Given the description of an element on the screen output the (x, y) to click on. 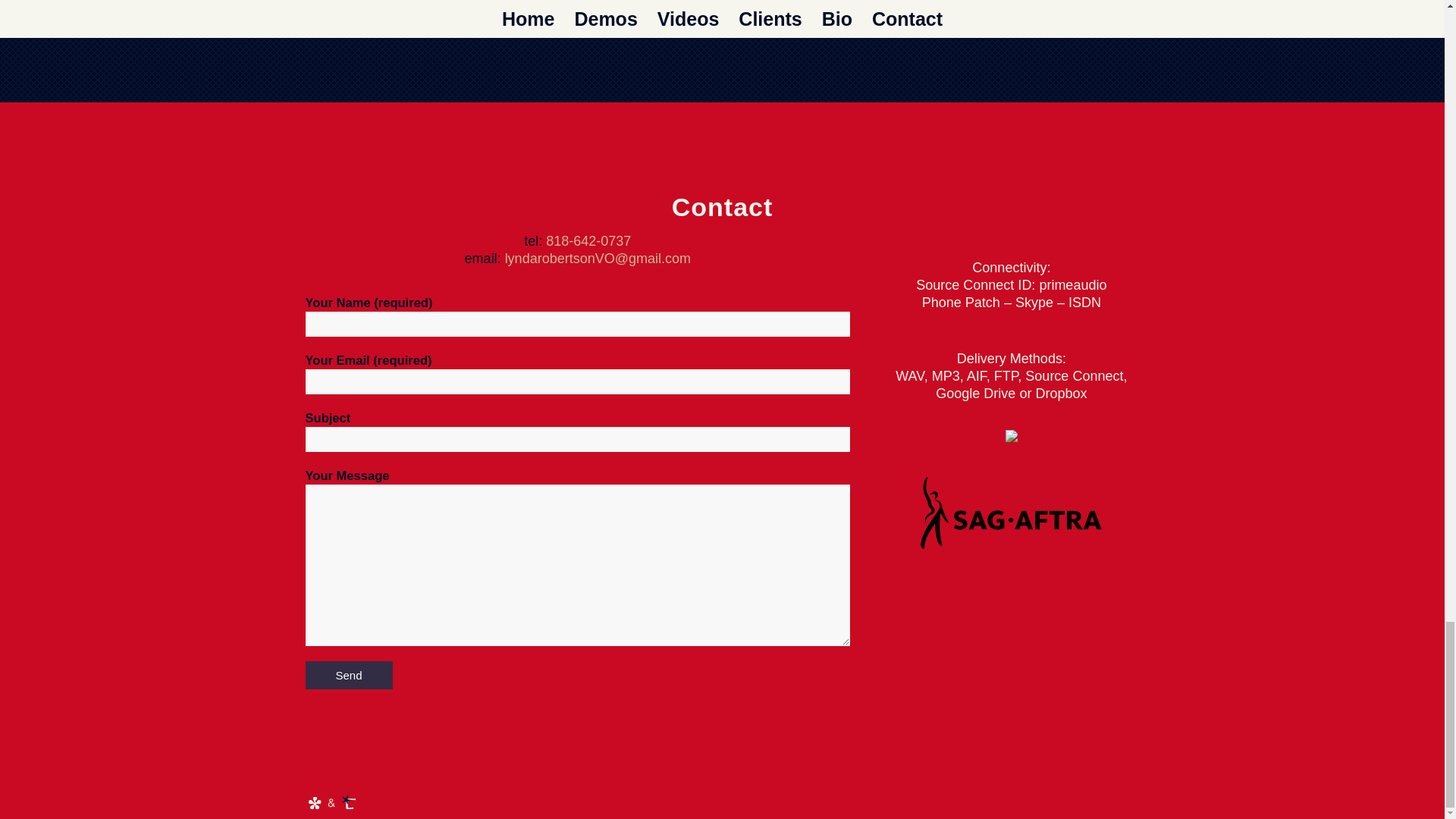
Send (347, 674)
Send (347, 674)
818-642-0737 (588, 240)
